Given the description of an element on the screen output the (x, y) to click on. 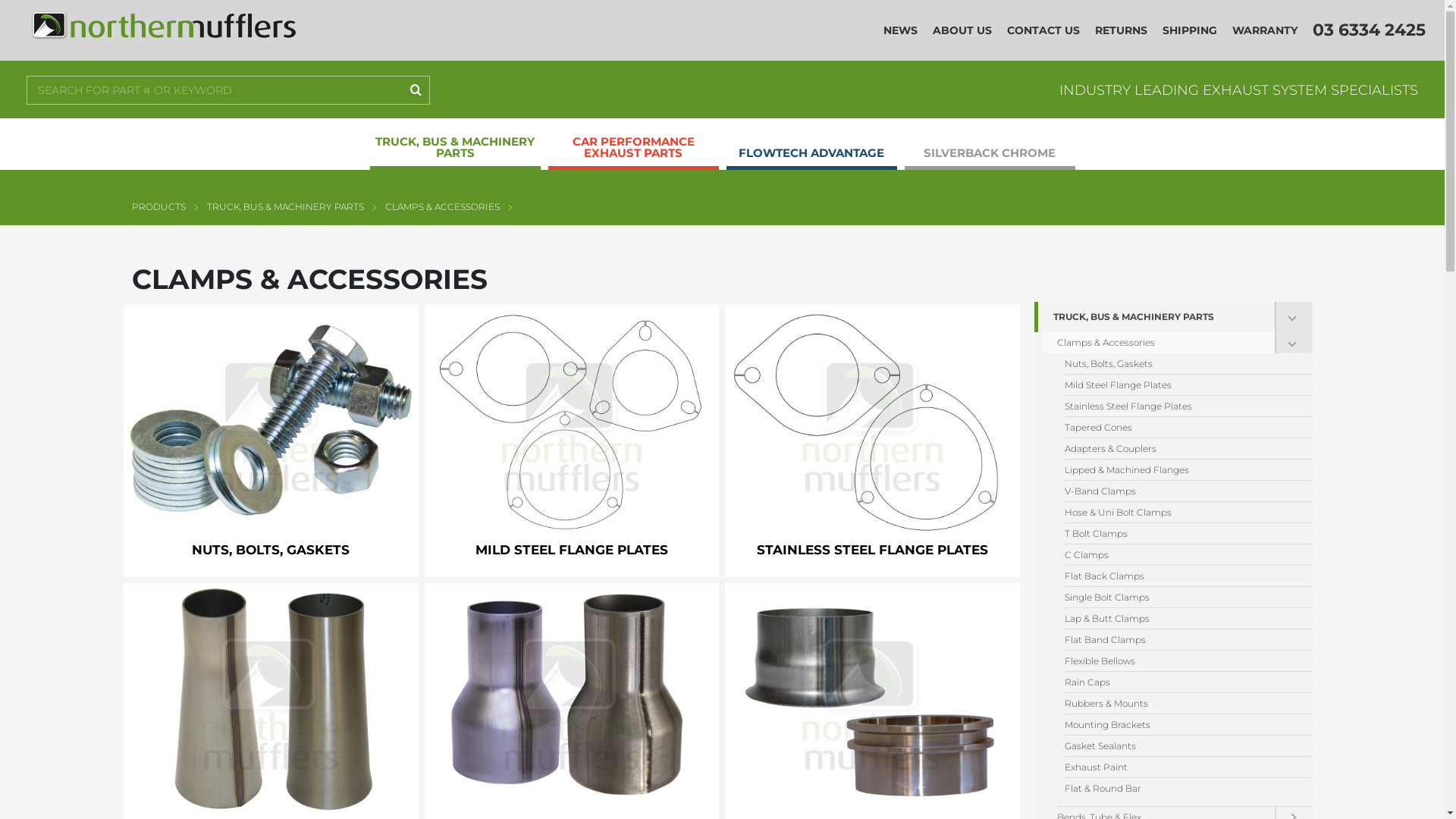
Hose & Uni Bolt Clamps Element type: text (1180, 512)
Lipped & Machined Flanges Element type: text (1180, 469)
MILD STEEL FLANGE PLATES Element type: text (571, 440)
03 6334 2425 Element type: text (1369, 30)
NUTS, BOLTS, GASKETS Element type: text (270, 440)
RETURNS Element type: text (1120, 30)
Mounting Brackets Element type: text (1180, 724)
Nuts, Bolts, Gaskets Element type: text (1180, 363)
Lap & Butt Clamps Element type: text (1180, 618)
STAINLESS STEEL FLANGE PLATES Element type: text (871, 440)
C Clamps Element type: text (1180, 554)
FLOWTECH ADVANTAGE Element type: text (811, 147)
Flat & Round Bar Element type: text (1180, 788)
Exhaust Paint Element type: text (1180, 767)
T Bolt Clamps Element type: text (1180, 533)
Flat Back Clamps Element type: text (1180, 575)
SHIPPING Element type: text (1189, 30)
V-Band Clamps Element type: text (1180, 491)
TRUCK, BUS & MACHINERY PARTS Element type: text (455, 142)
CONTACT US Element type: text (1043, 30)
Stainless Steel Flange Plates Element type: text (1180, 406)
PRODUCTS Element type: text (158, 206)
SILVERBACK CHROME Element type: text (988, 147)
Adapters & Couplers Element type: text (1180, 448)
Tapered Cones Element type: text (1180, 427)
Flexible Bellows Element type: text (1180, 660)
Rubbers & Mounts Element type: text (1180, 703)
Flat Band Clamps Element type: text (1180, 639)
TRUCK, BUS & MACHINERY PARTS Element type: text (285, 206)
Single Bolt Clamps Element type: text (1180, 597)
NEWS Element type: text (900, 30)
ABOUT US Element type: text (962, 30)
Clamps & Accessories Element type: text (1157, 342)
CAR PERFORMANCE EXHAUST PARTS Element type: text (632, 142)
Gasket Sealants Element type: text (1180, 745)
Rain Caps Element type: text (1180, 682)
WARRANTY Element type: text (1264, 30)
Mild Steel Flange Plates Element type: text (1180, 384)
TRUCK, BUS & MACHINERY PARTS Element type: text (1154, 316)
